Given the description of an element on the screen output the (x, y) to click on. 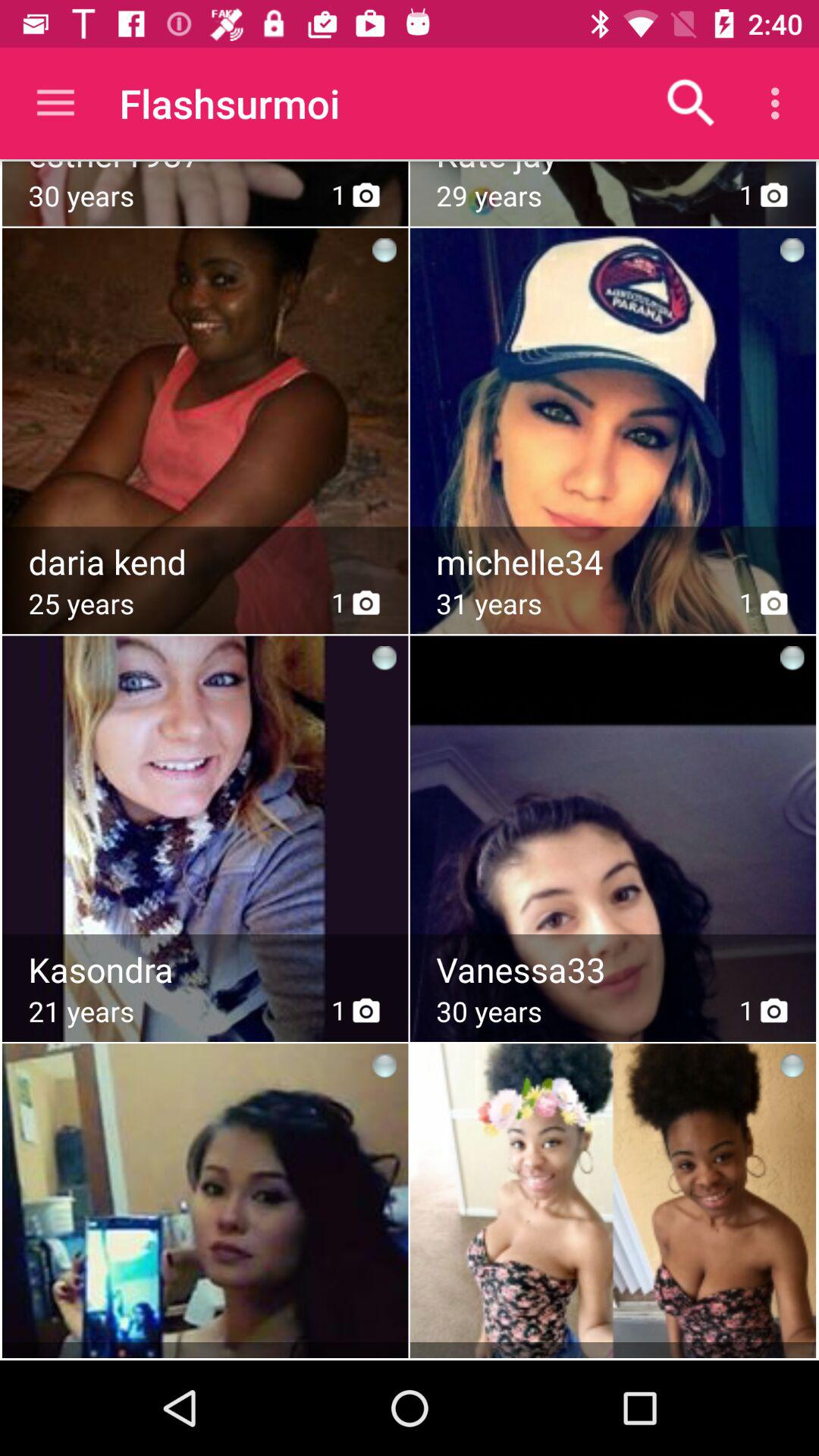
select person (204, 801)
